Given the description of an element on the screen output the (x, y) to click on. 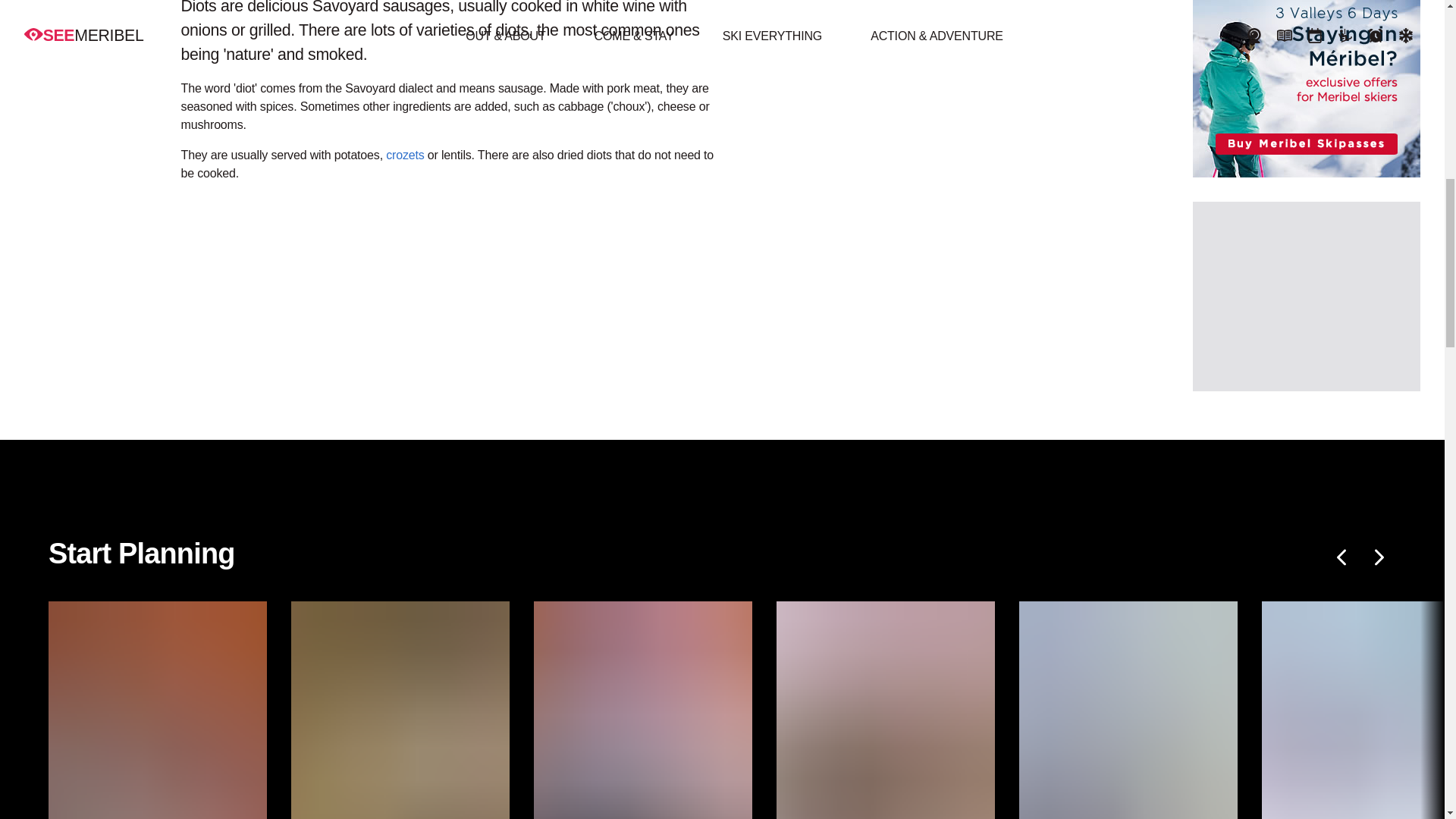
Ski MPU (1306, 88)
